Given the description of an element on the screen output the (x, y) to click on. 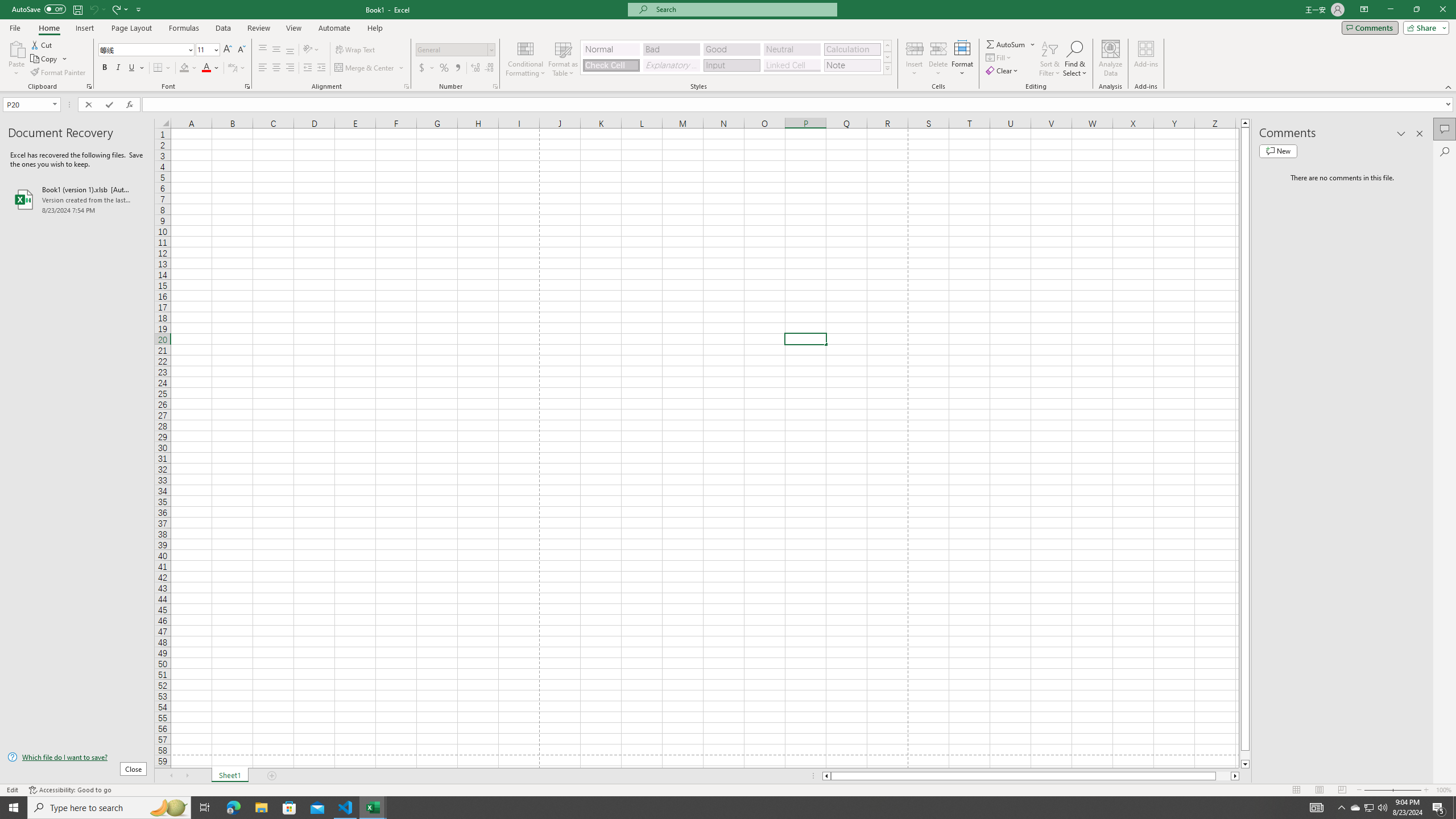
Number Format (455, 49)
More Options (1033, 44)
Number Format (451, 49)
Format as Table (563, 58)
Format Cell Alignment (405, 85)
Normal (1296, 790)
Font (142, 49)
Merge & Center (369, 67)
Calculation (852, 49)
Show Phonetic Field (236, 67)
Review (258, 28)
Copy (49, 58)
Page Break Preview (1342, 790)
